Given the description of an element on the screen output the (x, y) to click on. 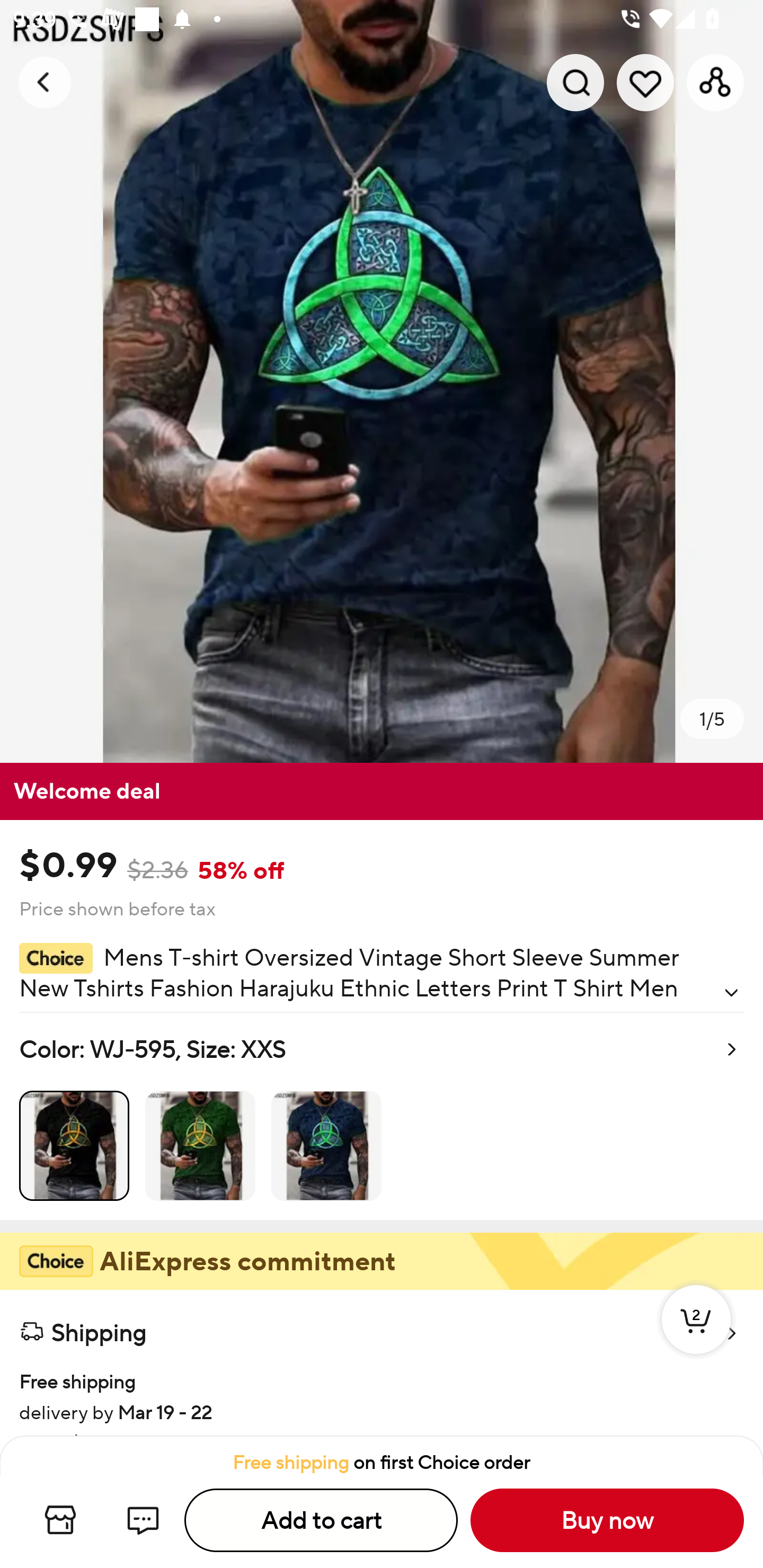
Navigate up (44, 82)
 (730, 992)
Color: WJ-595, Size: XXS  (381, 1115)
2 (695, 1338)
Add to cart (320, 1520)
Buy now (606, 1520)
